Given the description of an element on the screen output the (x, y) to click on. 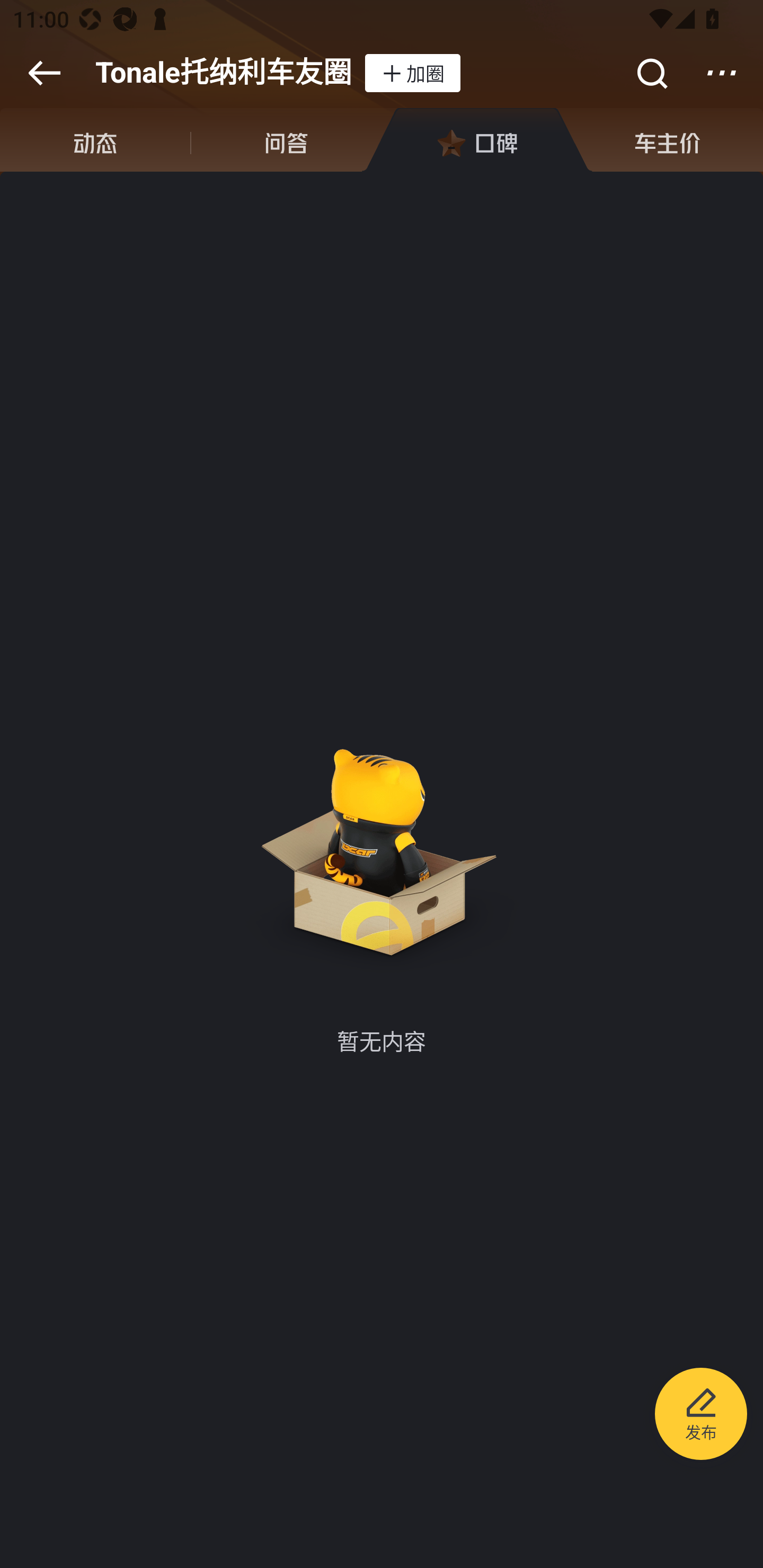
 (44, 72)
 加圈 (412, 72)
 (651, 72)
 (721, 72)
暂无内容 (381, 850)
 发布 (701, 1416)
